Given the description of an element on the screen output the (x, y) to click on. 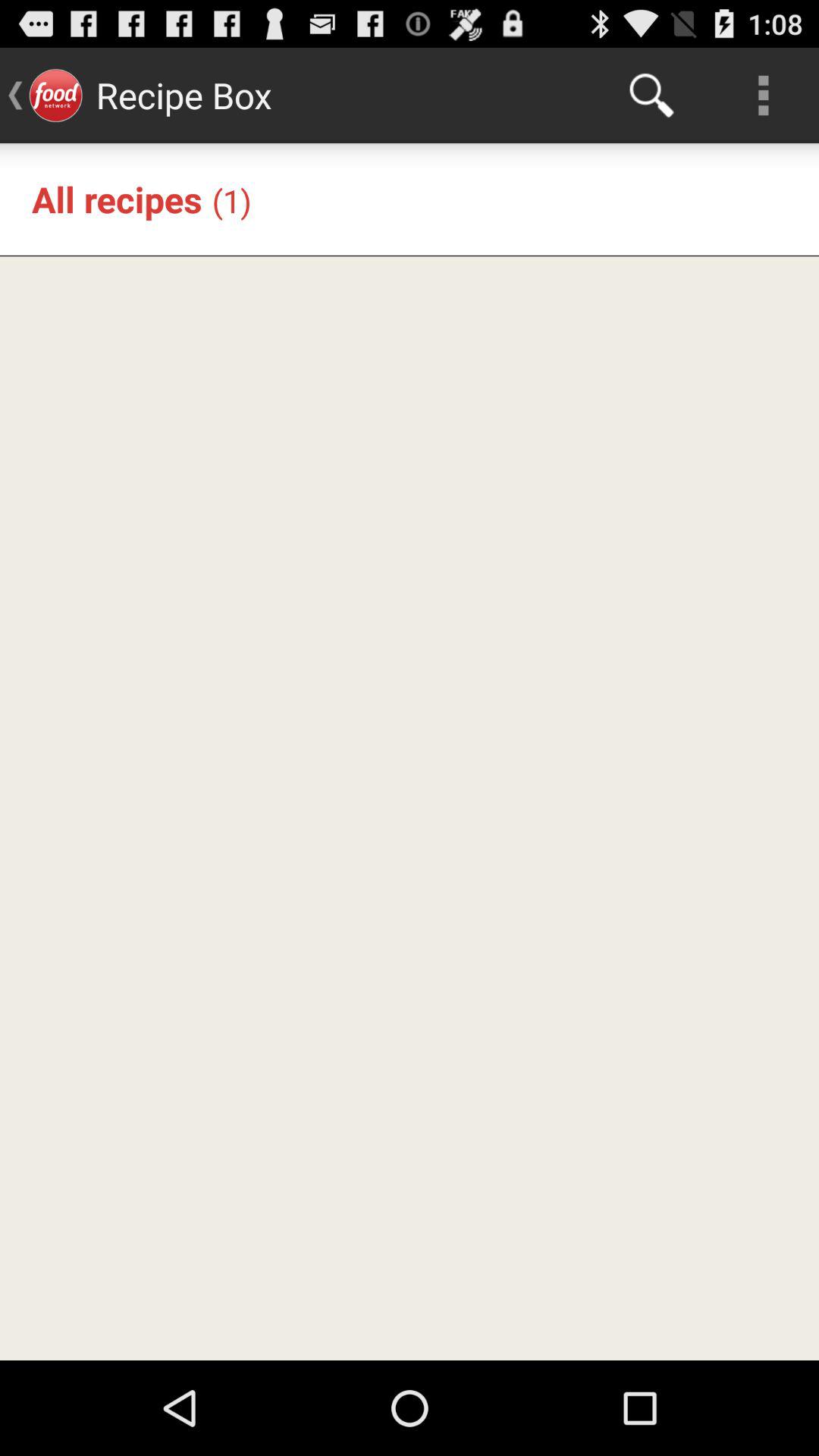
turn on the all recipes (116, 199)
